Given the description of an element on the screen output the (x, y) to click on. 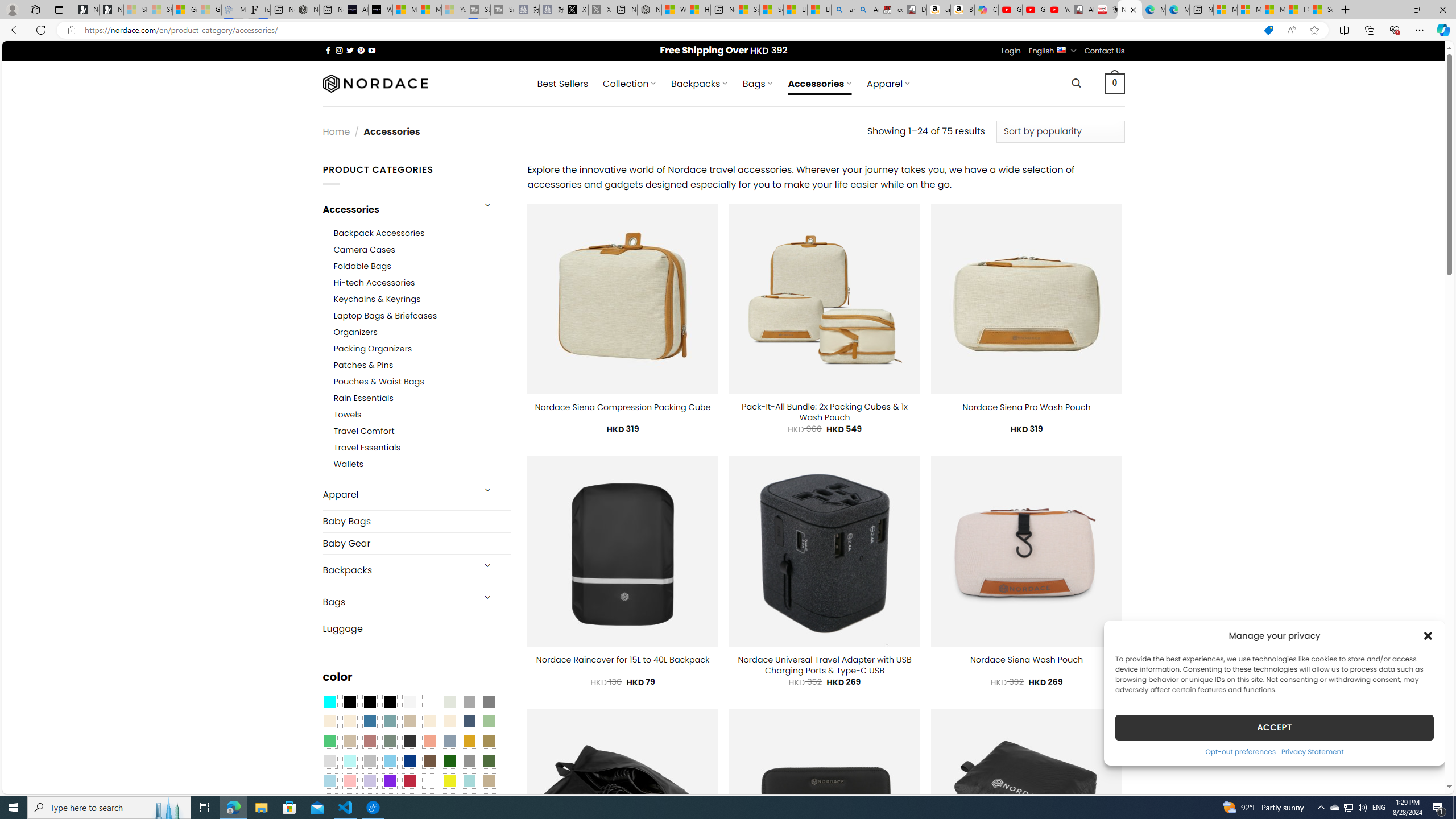
Sage (389, 741)
Hale Navy (468, 721)
Nordace Siena Wash Pouch (1026, 659)
Sky Blue (389, 761)
Gray (468, 761)
Accessories (397, 209)
Aqua (468, 780)
Silver (369, 761)
Purple (389, 780)
 0  (1115, 83)
Baby Bags (416, 521)
Copilot (986, 9)
